Given the description of an element on the screen output the (x, y) to click on. 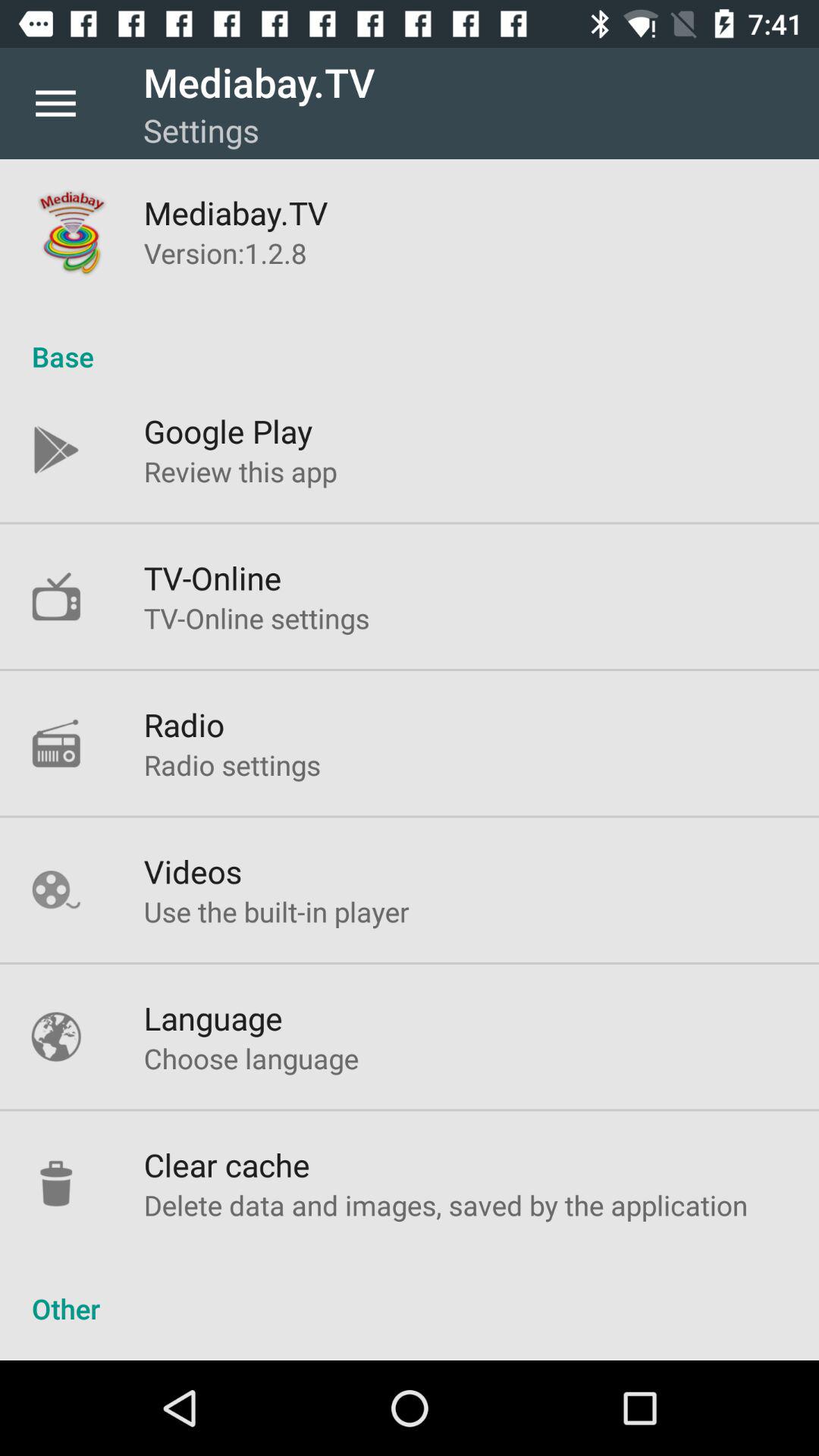
launch the item above tv-online icon (240, 471)
